Given the description of an element on the screen output the (x, y) to click on. 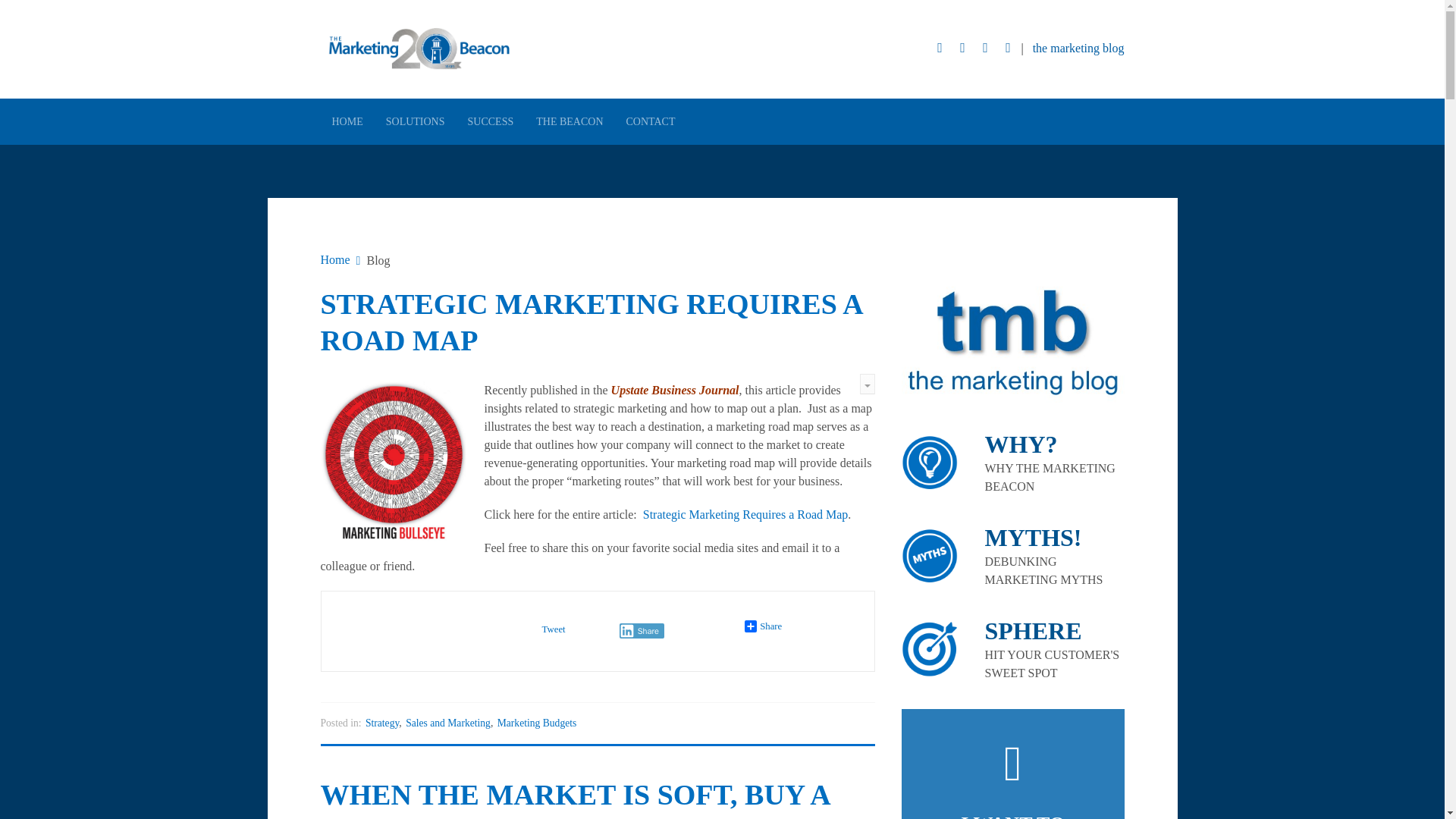
Marketing Budgets (536, 722)
WHEN THE MARKET IS SOFT, BUY A MATTRESS (574, 798)
SOLUTIONS (415, 121)
STRATEGIC MARKETING REQUIRES A ROAD MAP (590, 322)
Strategic Marketing Requires a Road Map (745, 513)
HOME (347, 121)
Share (762, 625)
Strategy (381, 722)
Sales and Marketing (448, 722)
CONTACT (649, 121)
